Given the description of an element on the screen output the (x, y) to click on. 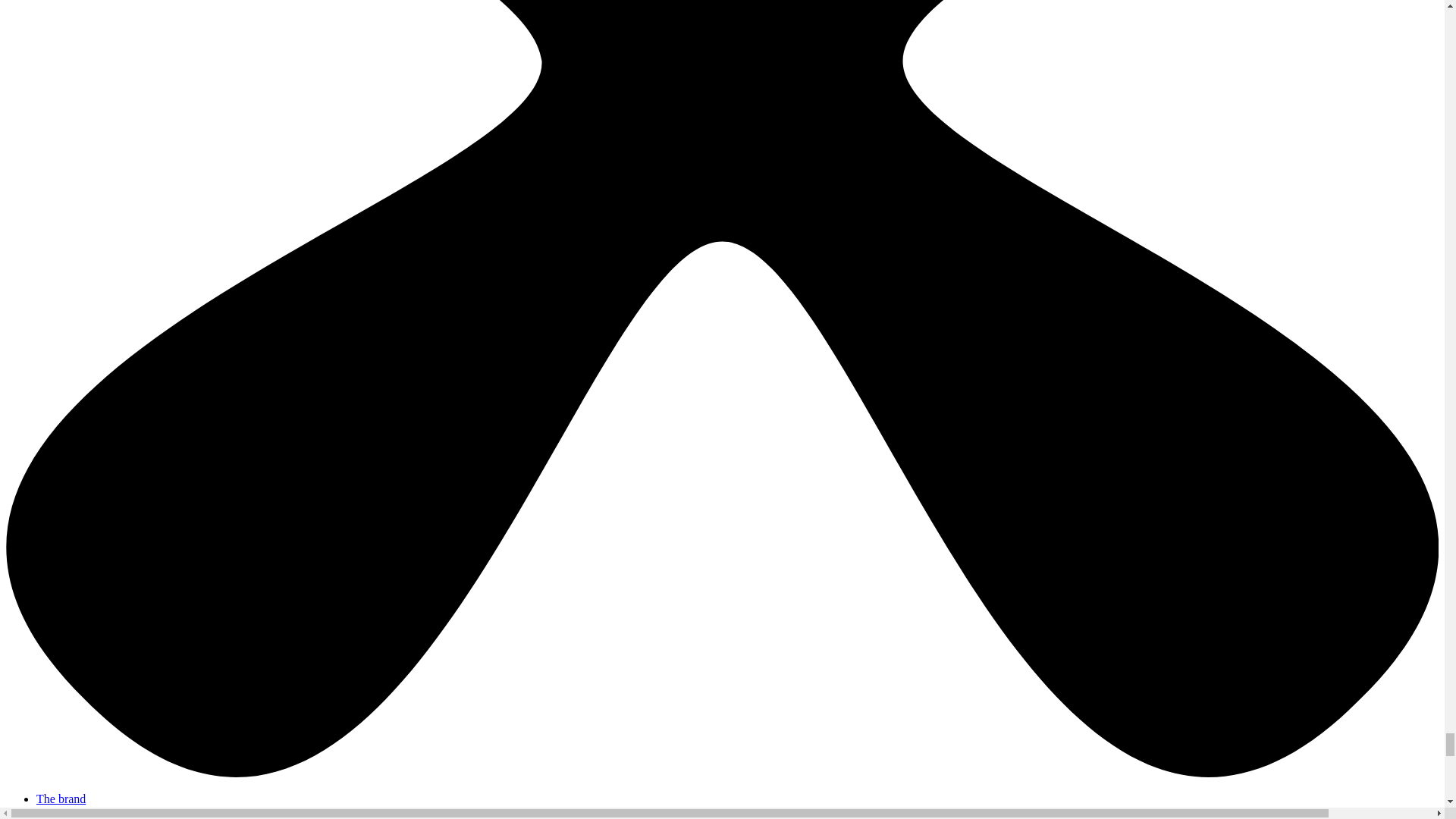
The brand (60, 798)
Our stores (60, 812)
